Given the description of an element on the screen output the (x, y) to click on. 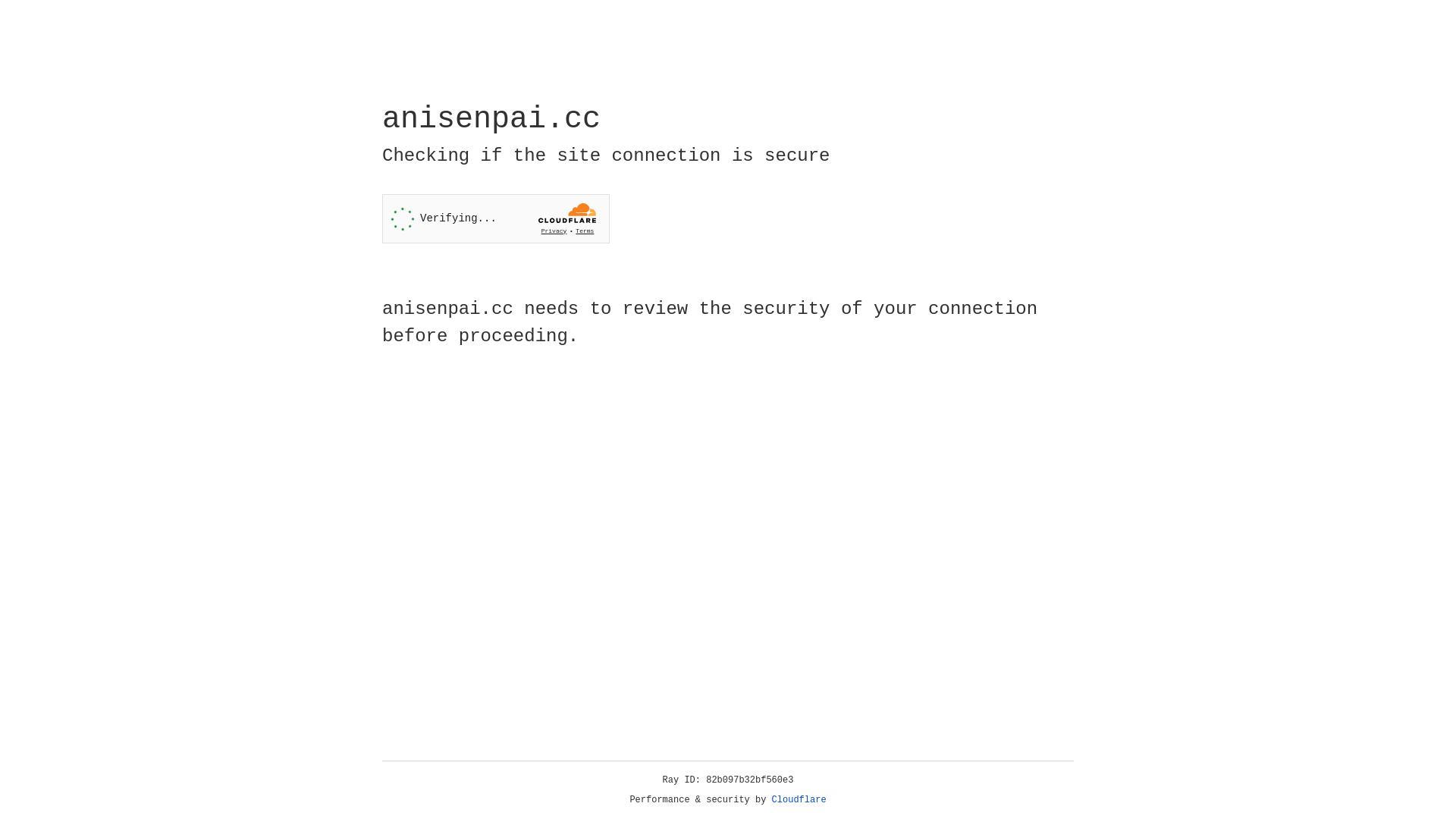
Widget containing a Cloudflare security challenge Element type: hover (495, 218)
Cloudflare Element type: text (798, 799)
